Given the description of an element on the screen output the (x, y) to click on. 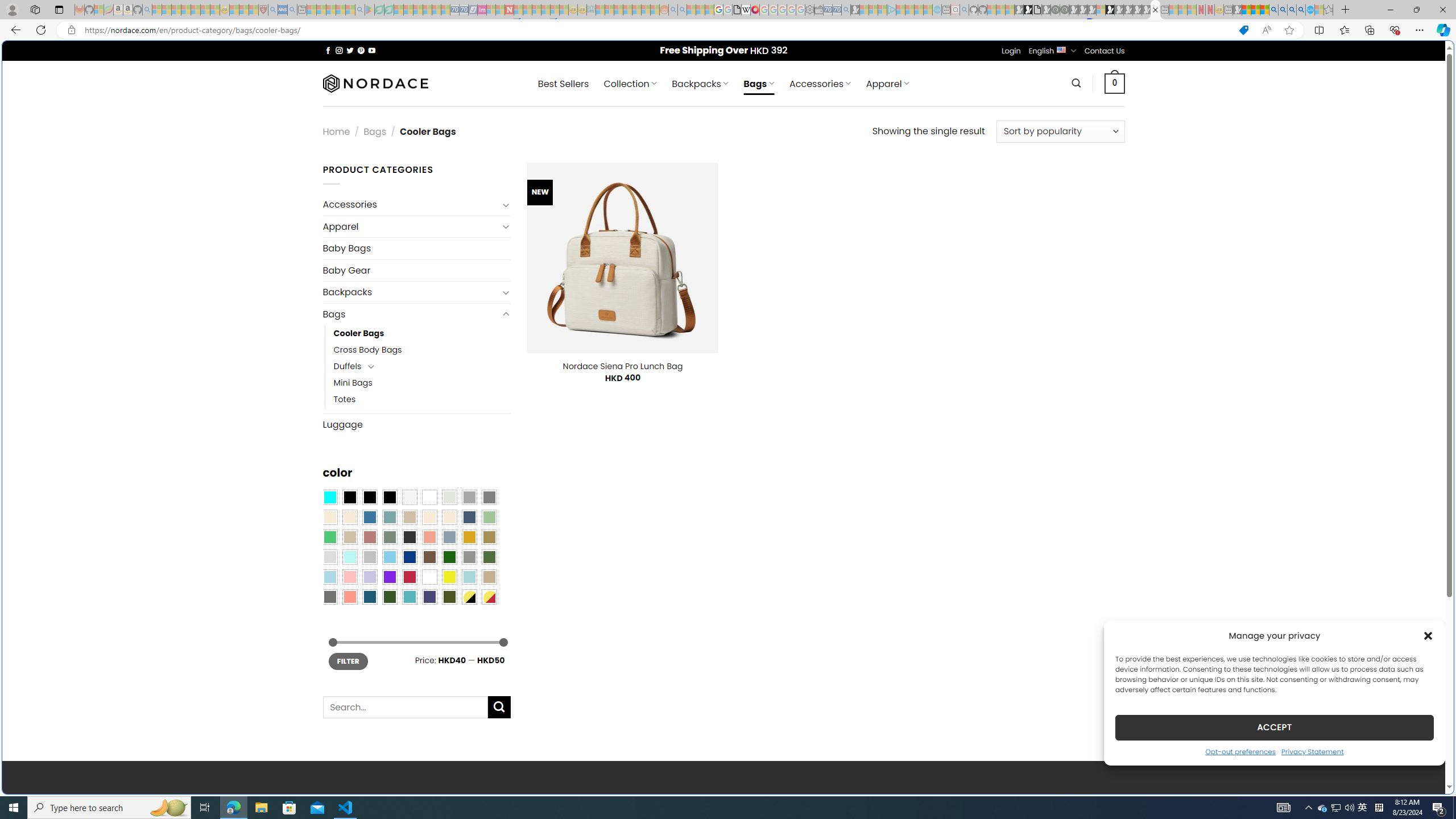
Pearly White (408, 497)
Purple (389, 577)
Gray (468, 557)
Cross Body Bags (367, 349)
Light Gray (329, 557)
Forest (389, 596)
Kelp (488, 536)
Black-Brown (389, 497)
